Given the description of an element on the screen output the (x, y) to click on. 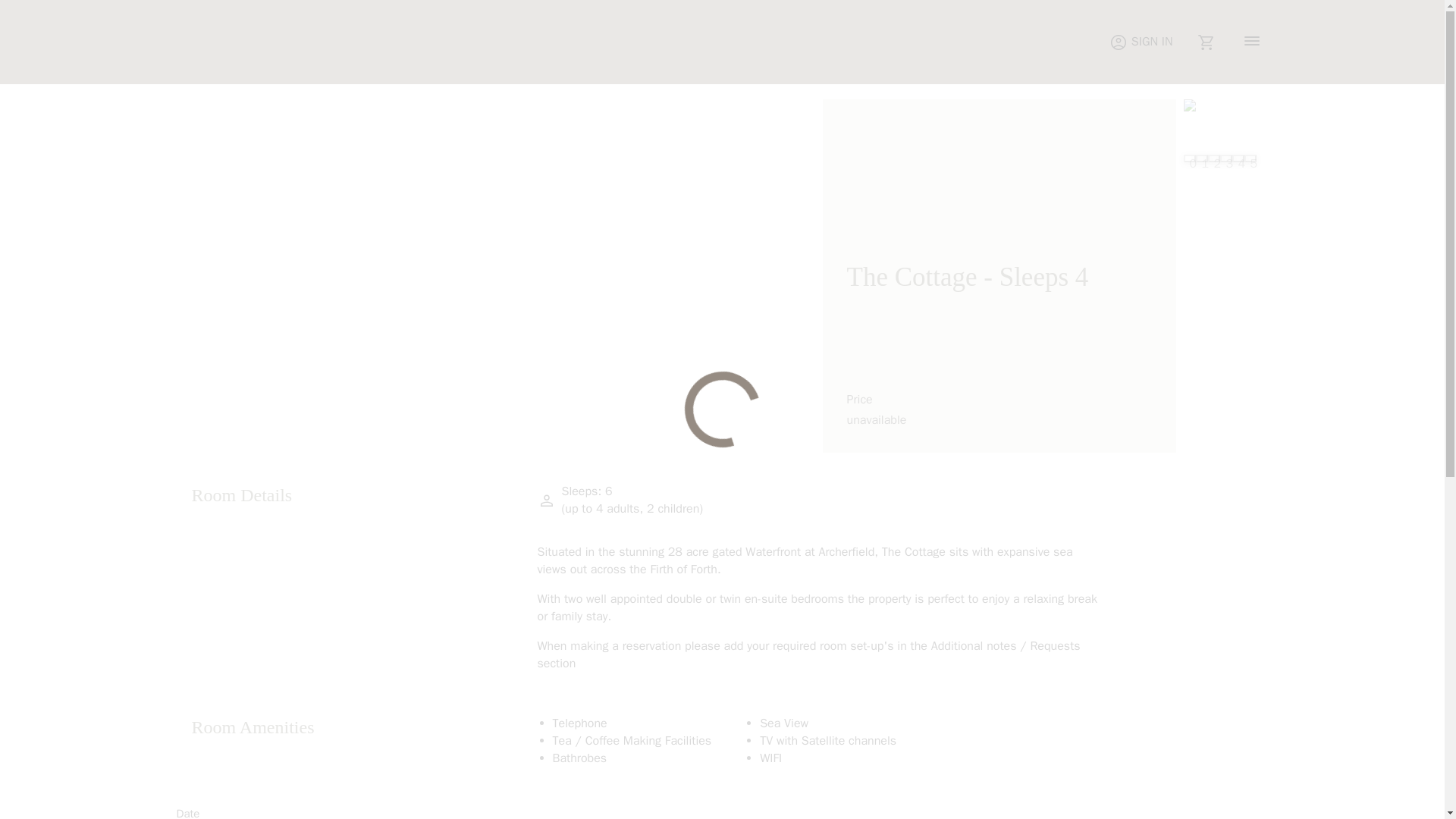
SIGN IN (1141, 41)
5 (1249, 158)
0 (1188, 158)
4 (1237, 158)
2 (1213, 158)
3 (1225, 158)
1 (1201, 158)
